Given the description of an element on the screen output the (x, y) to click on. 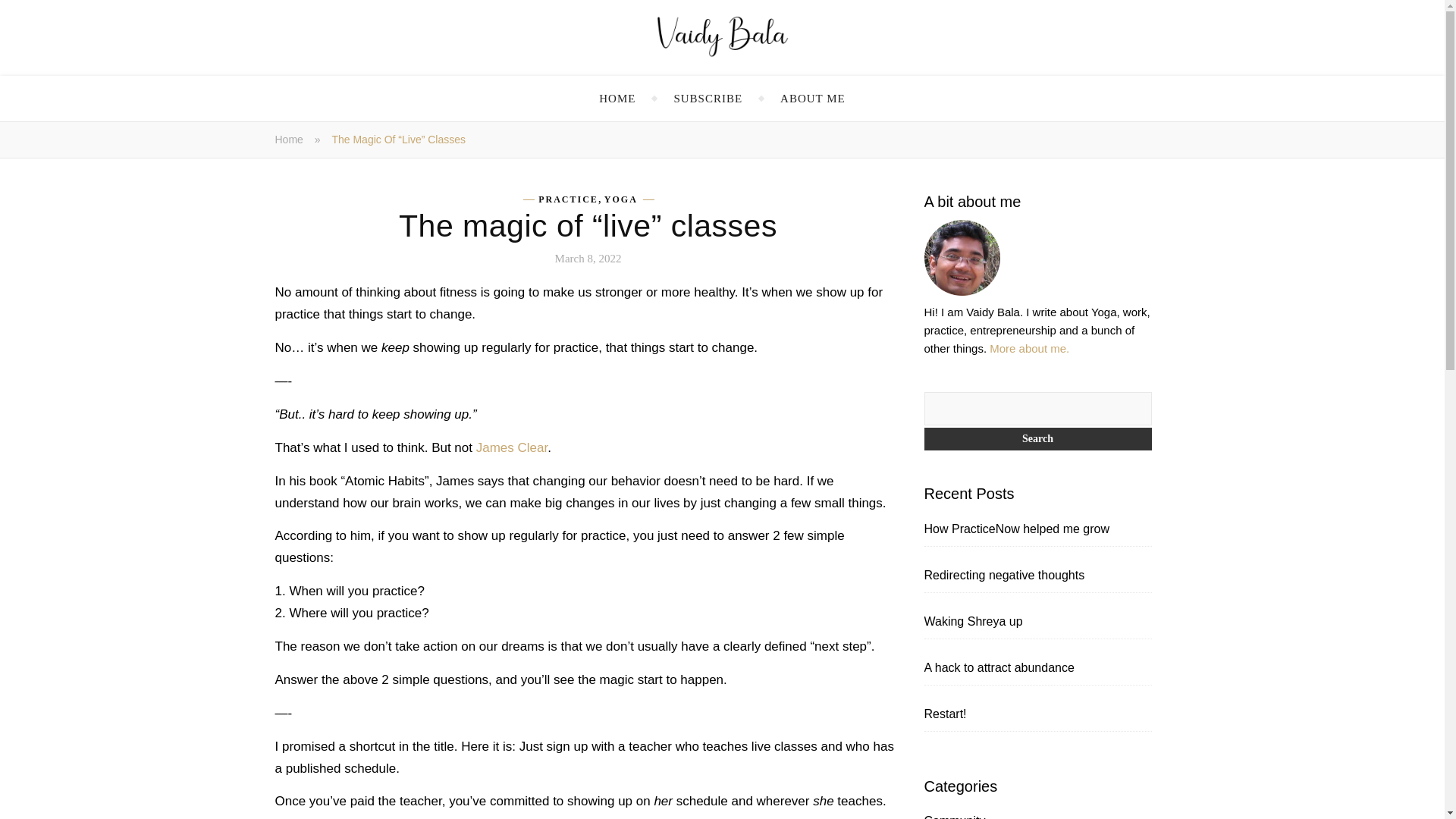
More about me. (1029, 348)
A hack to attract abundance (998, 667)
Vaidy Bala (721, 36)
Home (288, 139)
Restart! (944, 713)
YOGA (620, 198)
Waking Shreya up (972, 621)
James Clear (511, 447)
Community (954, 816)
ABOUT ME (812, 98)
